Given the description of an element on the screen output the (x, y) to click on. 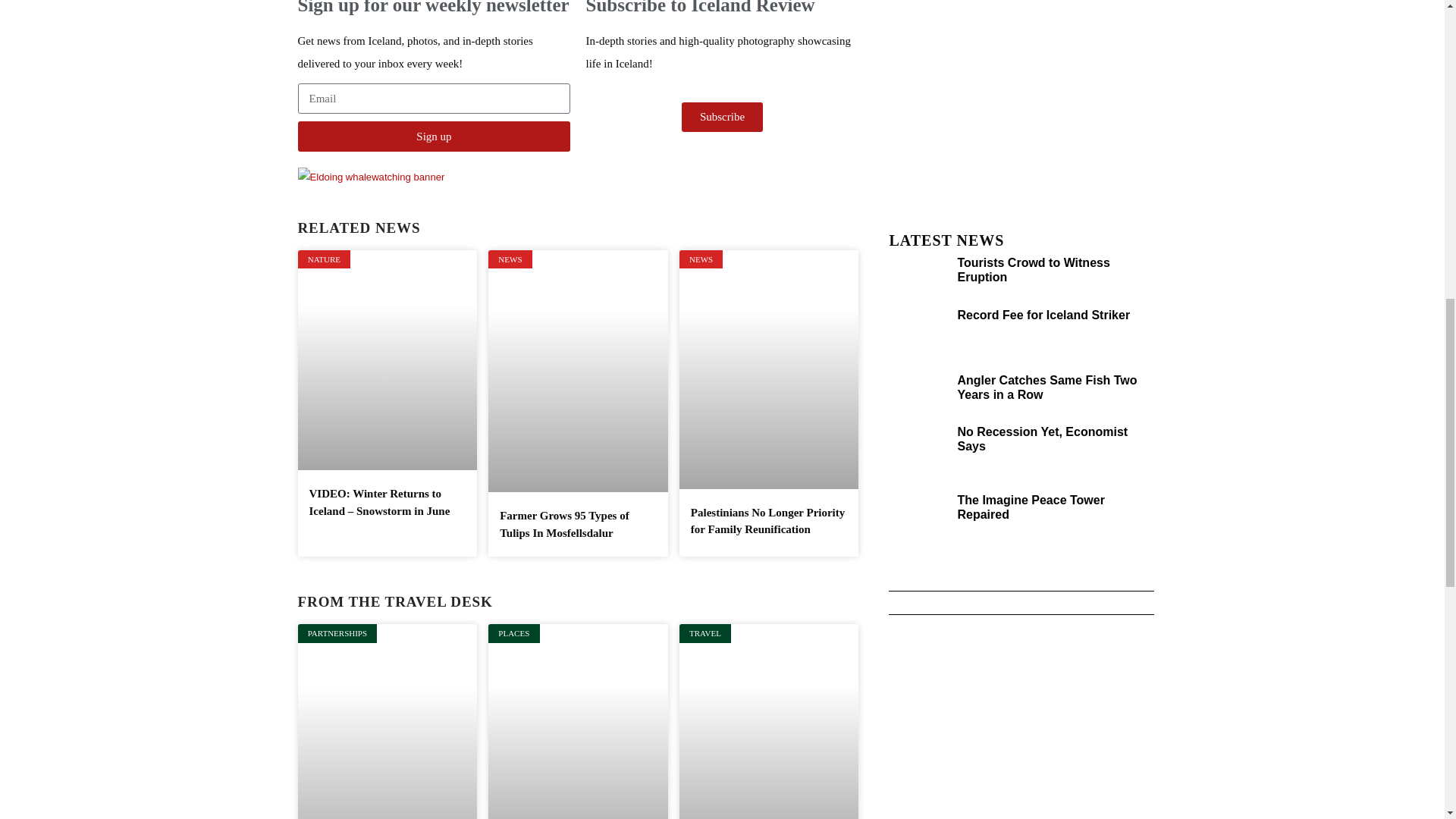
Record Fee for Iceland Striker (1042, 314)
Tourists Crowd to Witness Eruption (1032, 269)
No Recession Yet, Economist Says (1041, 438)
Angler Catches Same Fish Two Years in a Row (1046, 387)
The Imagine Peace Tower Repaired (1029, 506)
